Given the description of an element on the screen output the (x, y) to click on. 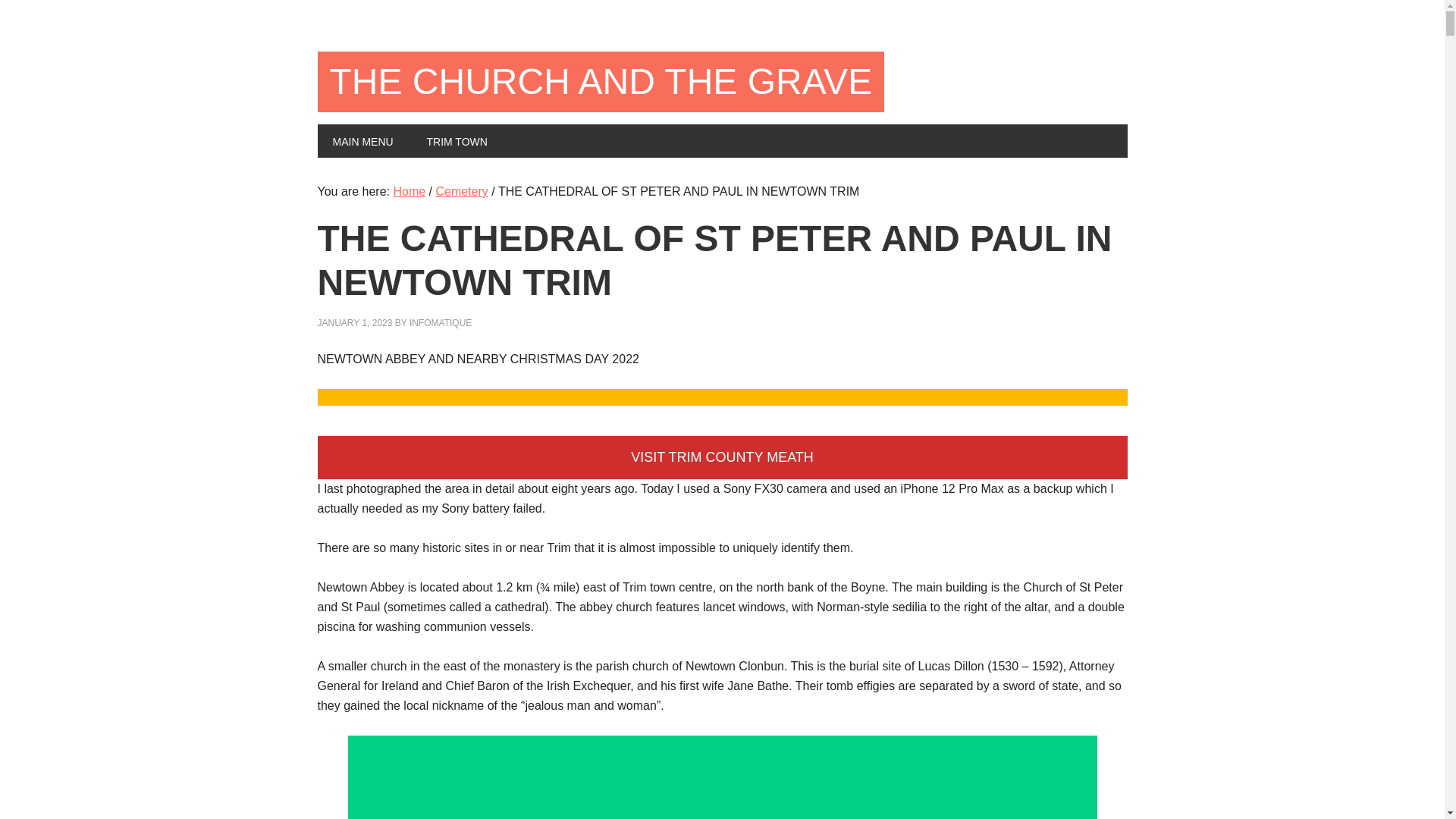
VISIT TRIM COUNTY MEATH (721, 457)
MAIN MENU (362, 141)
INFOMATIQUE (440, 322)
Home (409, 191)
Cemetery (461, 191)
THE CHURCH AND THE GRAVE (600, 81)
TRIM TOWN (457, 141)
